Given the description of an element on the screen output the (x, y) to click on. 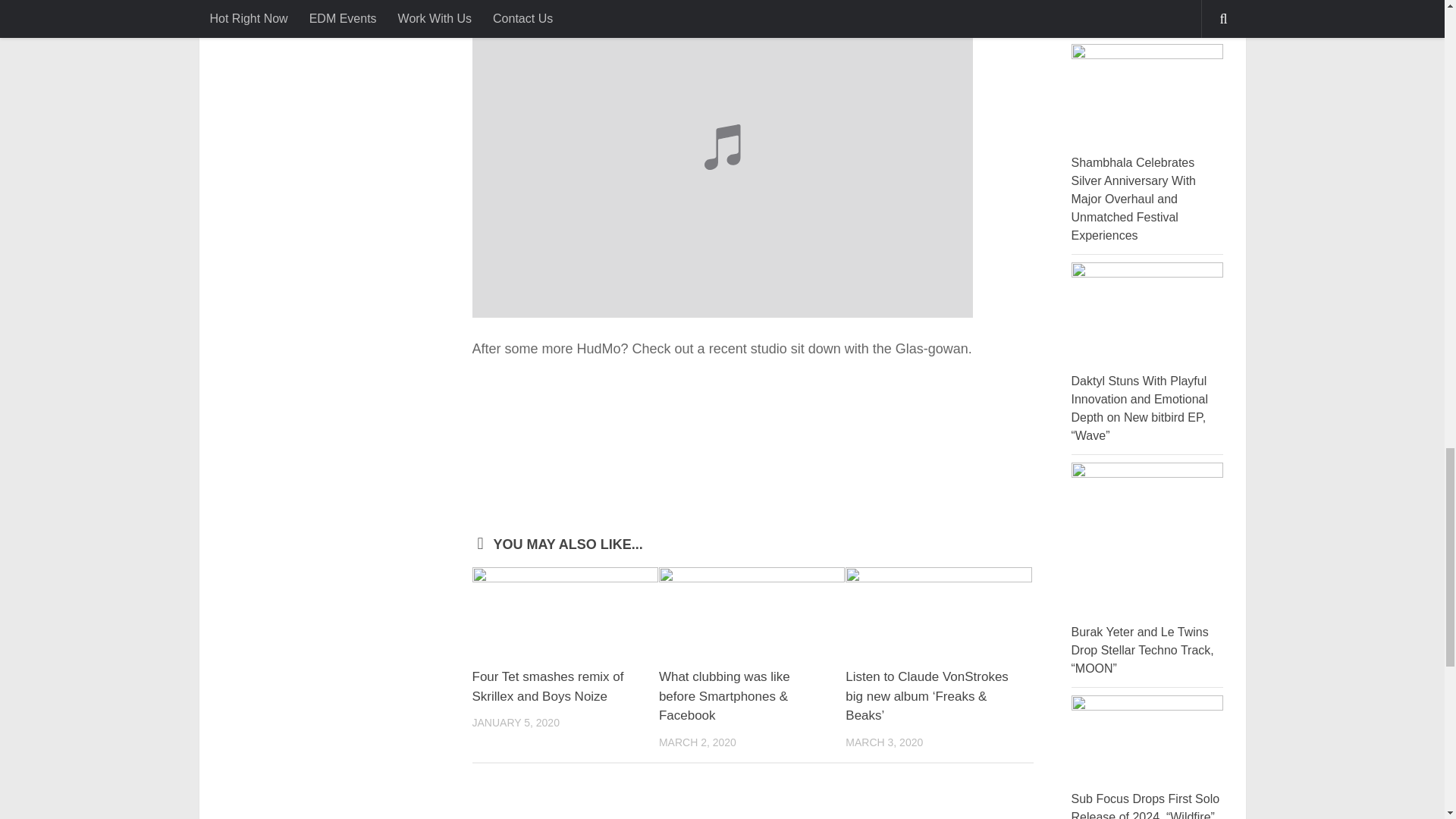
Four Tet smashes remix of Skrillex and Boys Noize (564, 611)
Four Tet smashes remix of Skrillex and Boys Noize (547, 686)
Four Tet smashes remix of Skrillex and Boys Noize (547, 686)
